Given the description of an element on the screen output the (x, y) to click on. 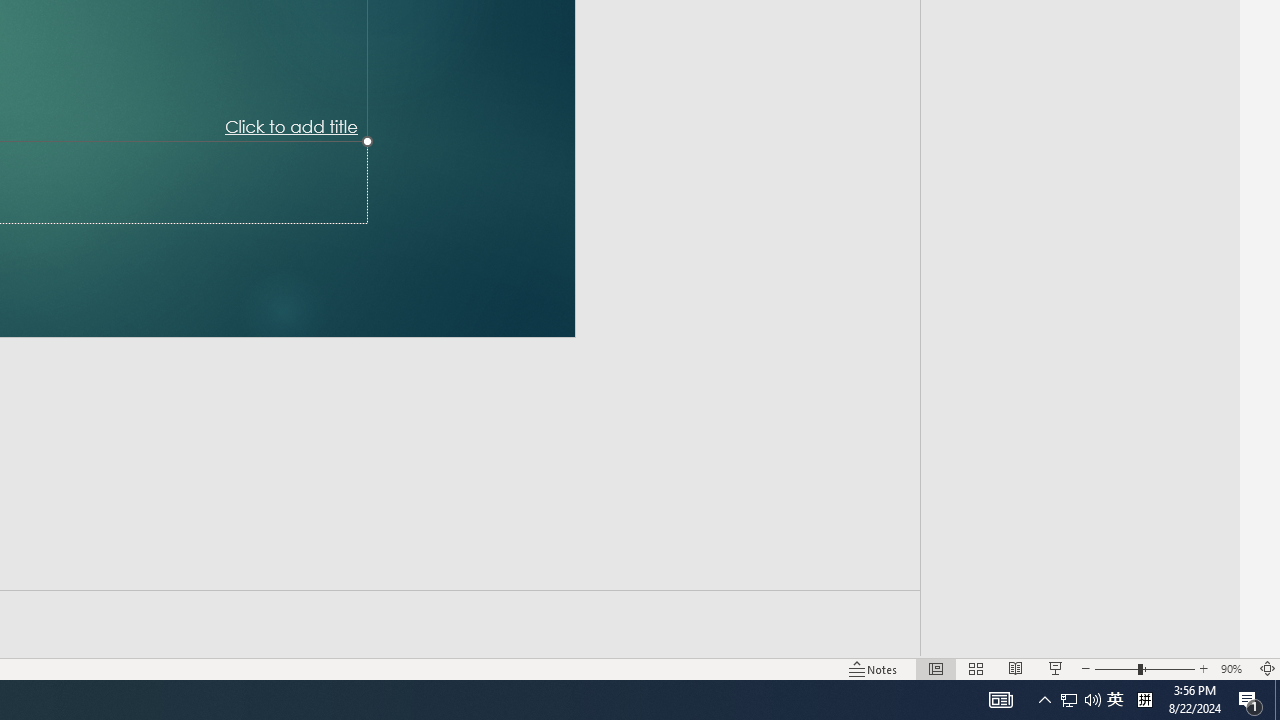
Zoom 90% (1234, 668)
